Given the description of an element on the screen output the (x, y) to click on. 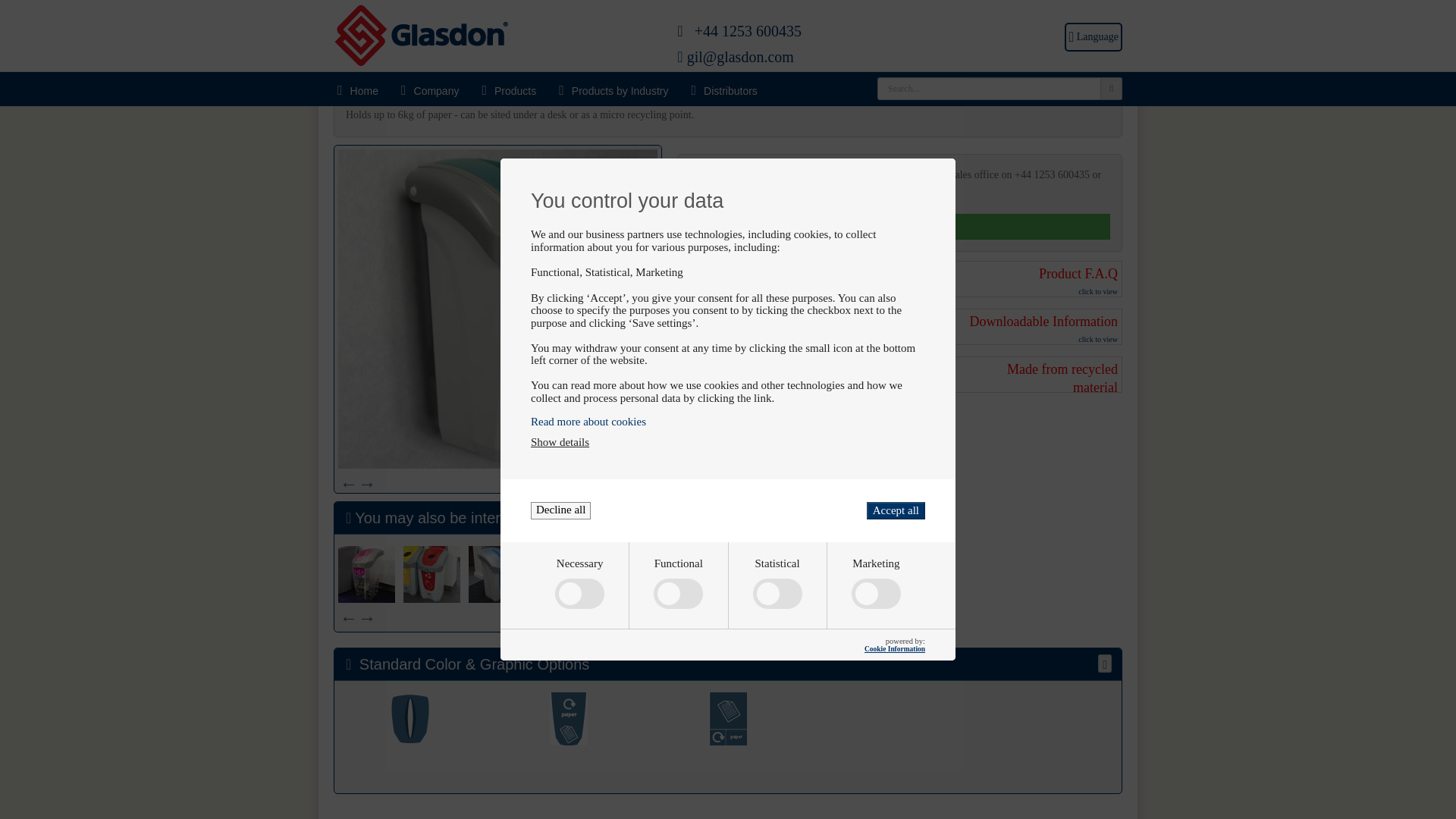
Accept all (895, 404)
Decline all (561, 404)
Cookie Information (894, 542)
Read more about cookies (727, 315)
Show details (560, 336)
